Given the description of an element on the screen output the (x, y) to click on. 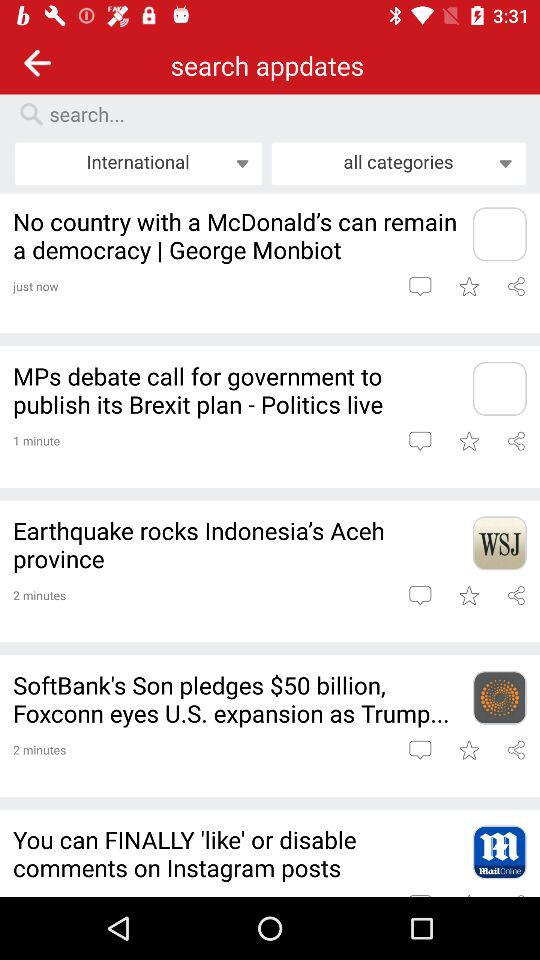
link where article is located (499, 543)
